Given the description of an element on the screen output the (x, y) to click on. 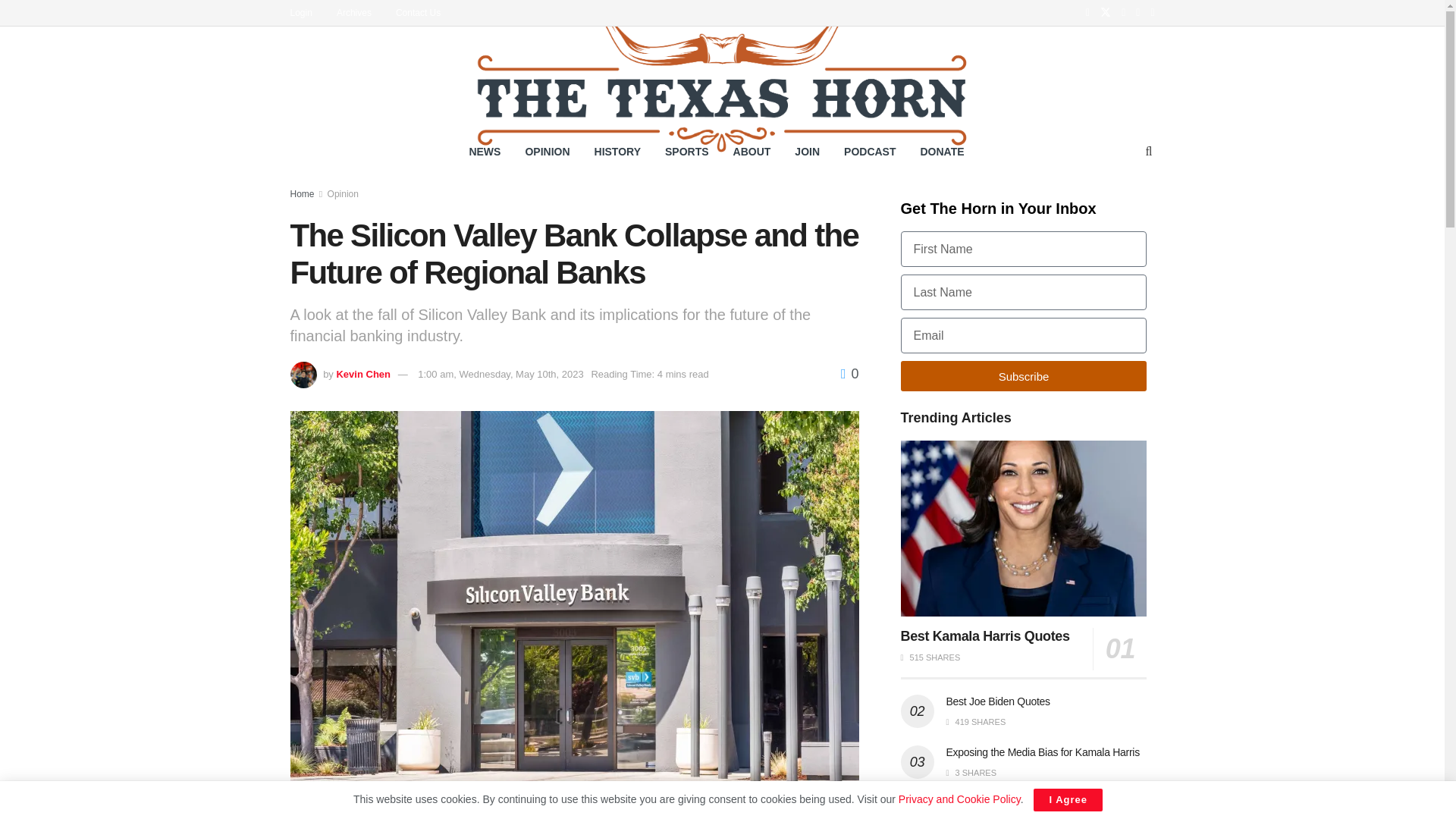
Opinion (342, 194)
NEWS (484, 151)
SPORTS (686, 151)
Login (307, 12)
OPINION (546, 151)
Contact Us (425, 12)
0 (850, 373)
Archives (361, 12)
PODCAST (869, 151)
